Given the description of an element on the screen output the (x, y) to click on. 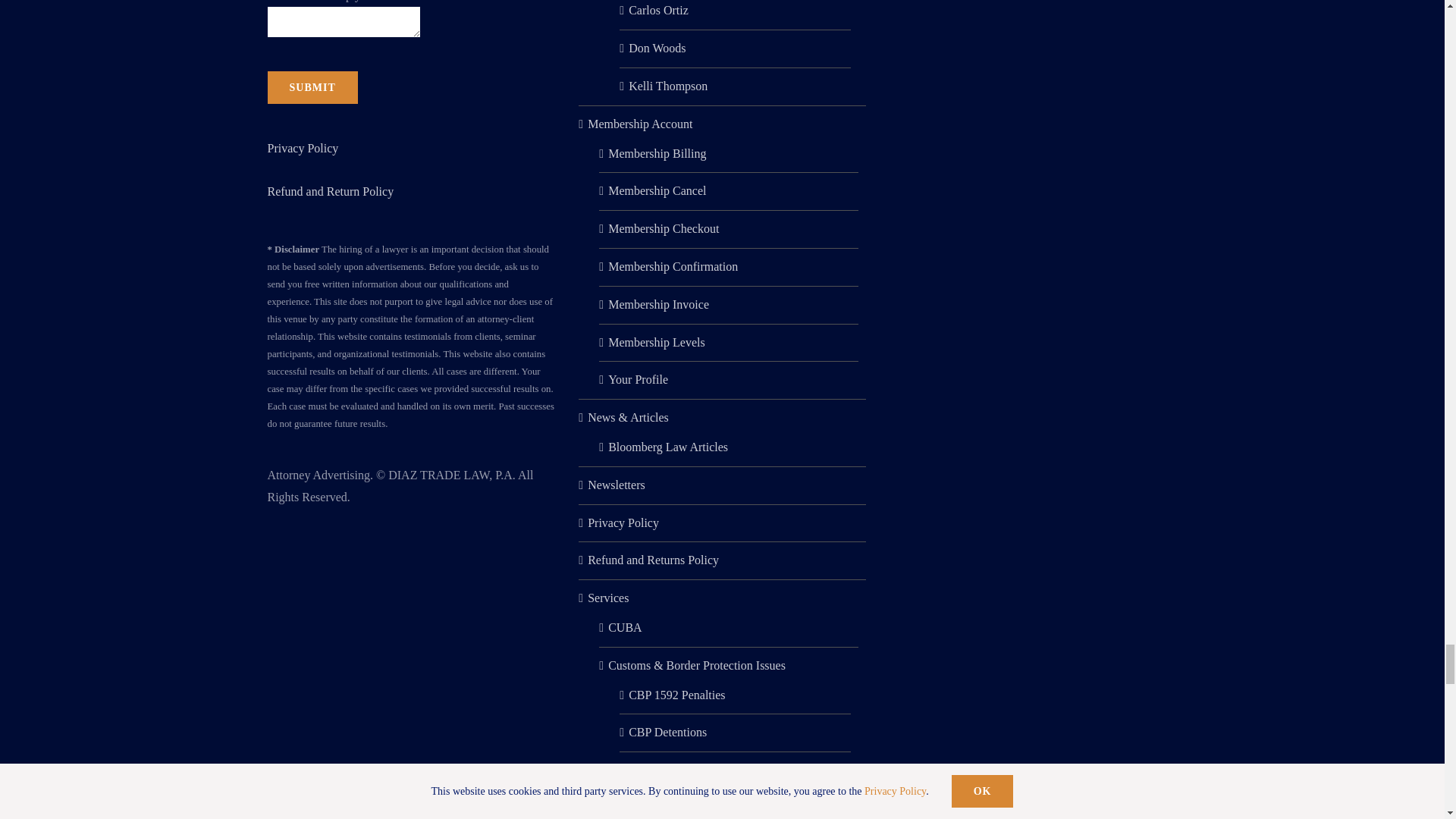
Submit (311, 87)
